Given the description of an element on the screen output the (x, y) to click on. 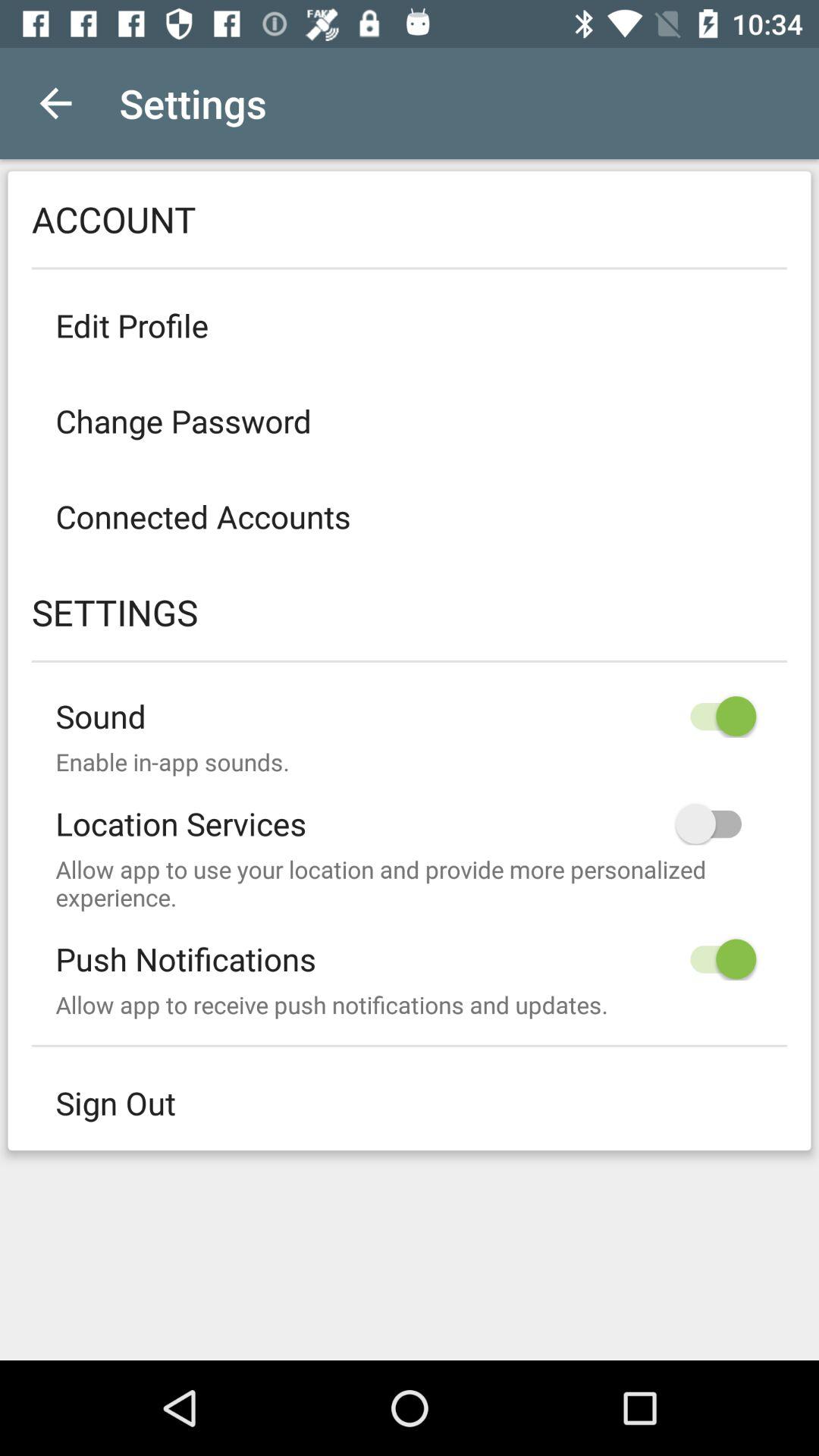
click the icon below the edit profile item (409, 420)
